Given the description of an element on the screen output the (x, y) to click on. 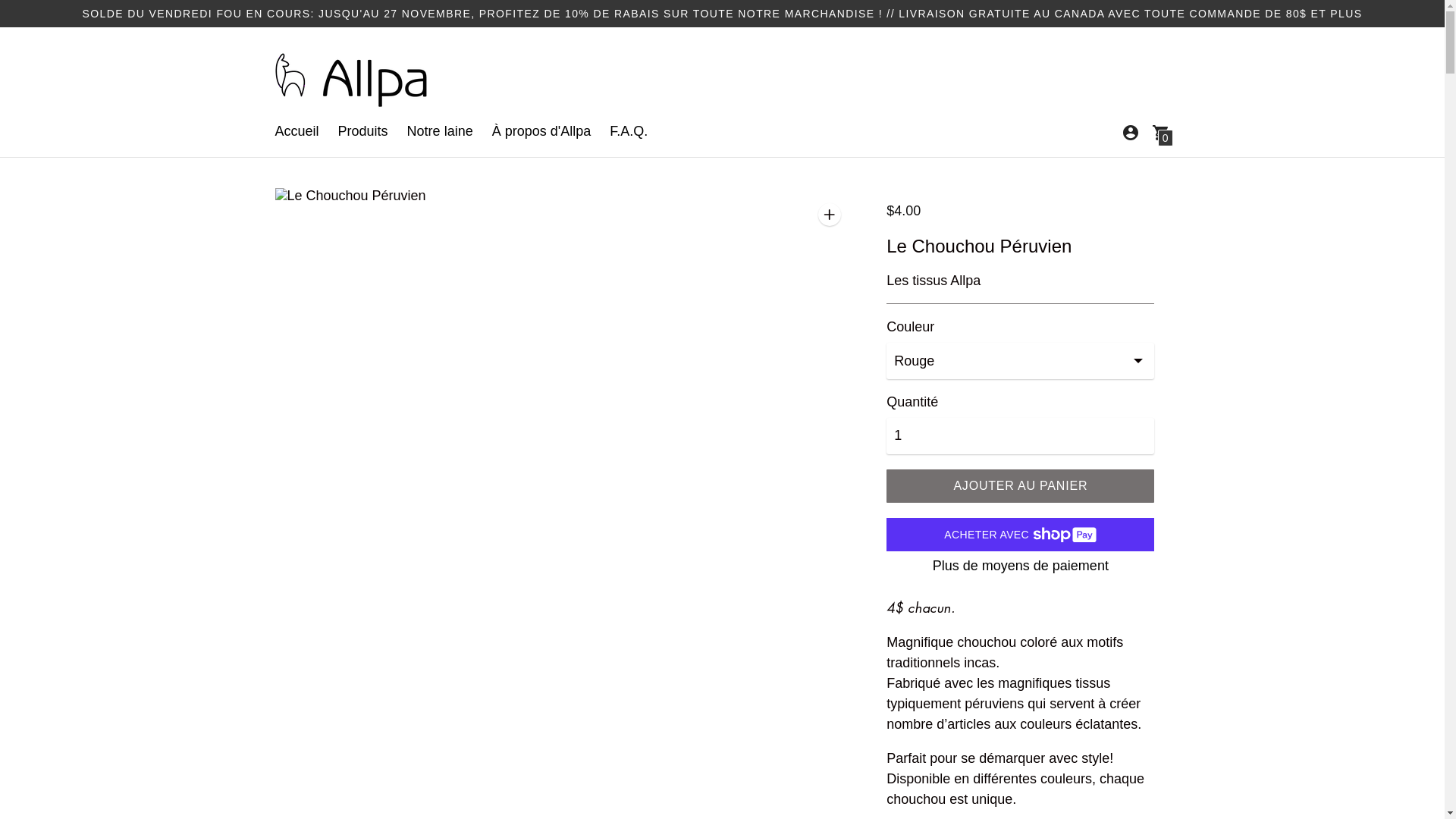
Accueil Element type: text (296, 130)
Produits Element type: text (363, 130)
0 Element type: text (1160, 131)
AJOUTER AU PANIER Element type: text (1020, 485)
Notre laine Element type: text (440, 130)
F.A.Q. Element type: text (628, 130)
Plus de moyens de paiement Element type: text (1020, 565)
